Given the description of an element on the screen output the (x, y) to click on. 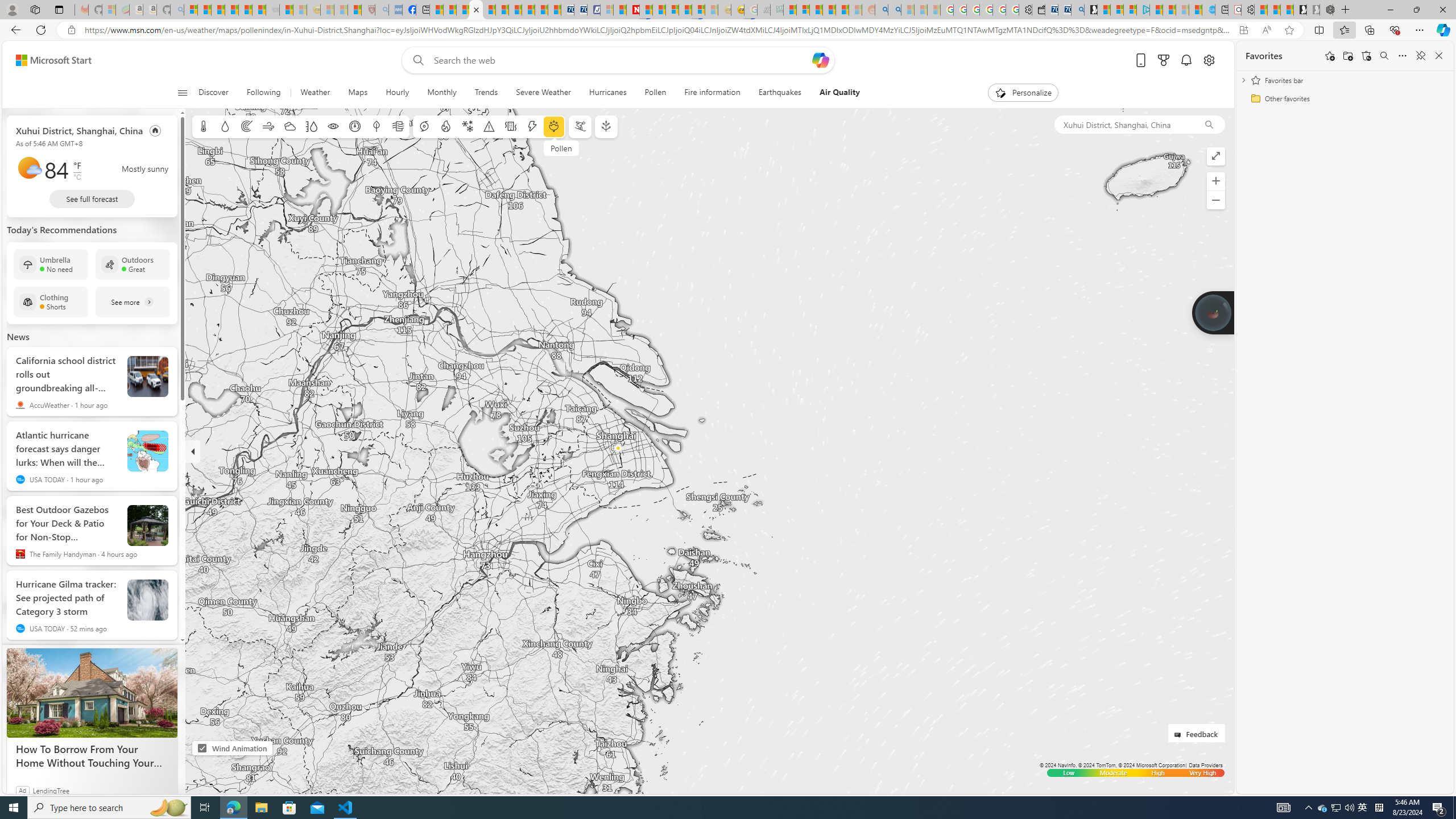
Monthly (441, 92)
Air Quality (839, 92)
Fire information (712, 92)
Dew point (376, 126)
E-tree (605, 126)
Class: button-glyph (182, 92)
Pollen (553, 126)
Precipitation (225, 126)
Ski conditions (579, 126)
